Given the description of an element on the screen output the (x, y) to click on. 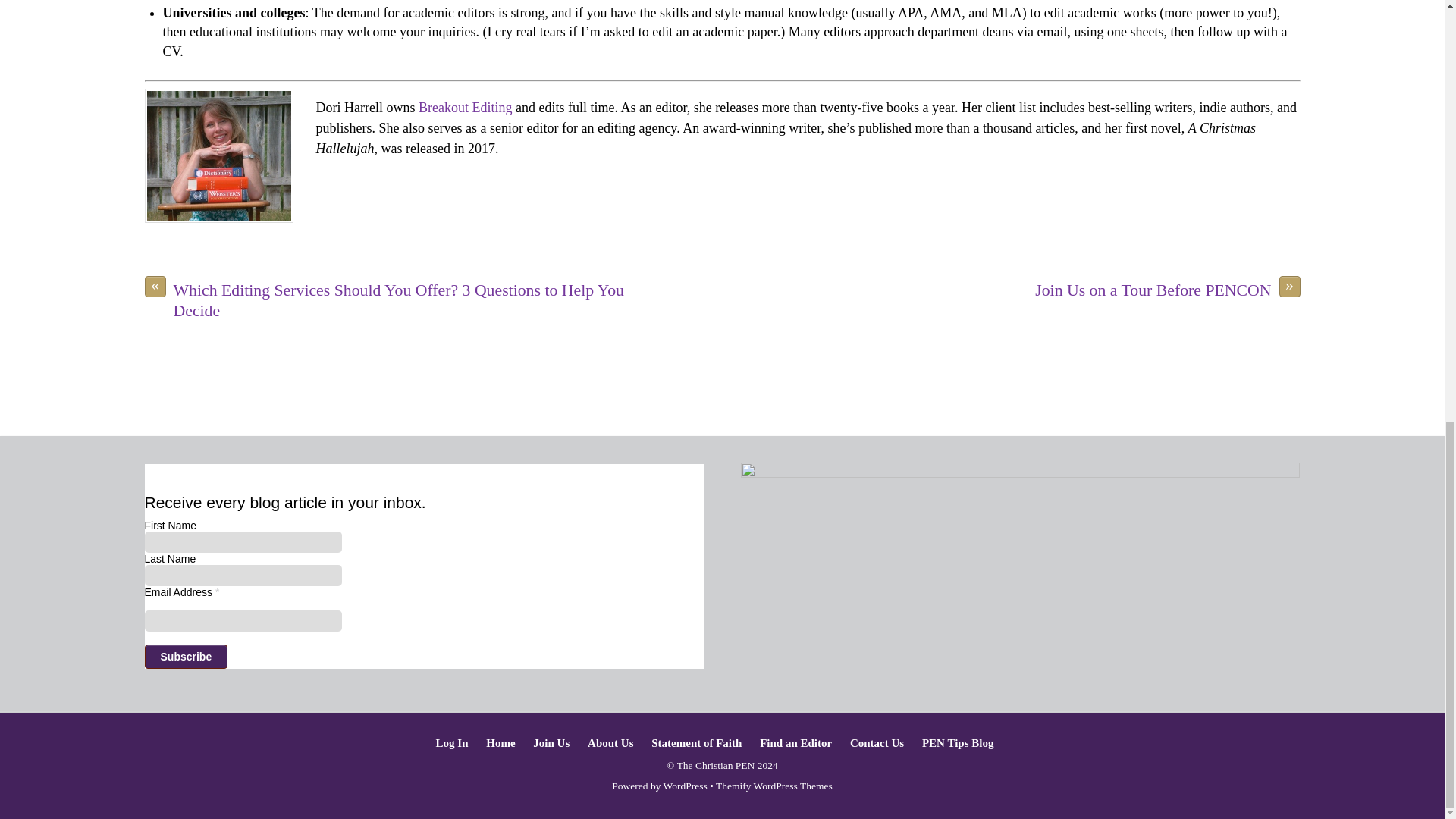
PEN web banner (1020, 526)
Home (500, 743)
Breakout Editing (465, 107)
Subscribe (185, 656)
Join Us (550, 743)
Log In (451, 743)
Subscribe (185, 656)
About Us (610, 743)
